Given the description of an element on the screen output the (x, y) to click on. 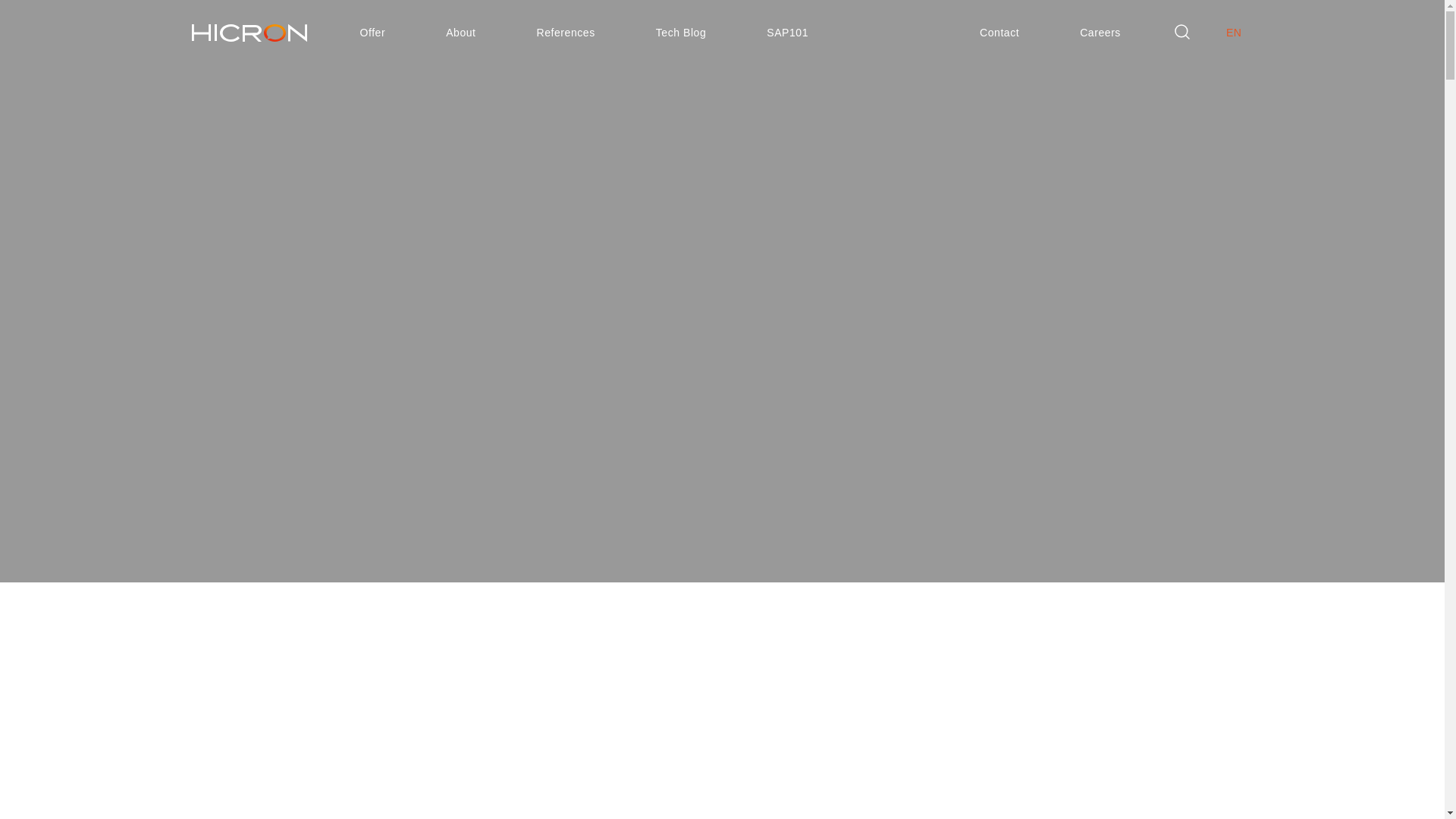
Tech Blog (681, 32)
About (459, 32)
Offer (371, 32)
Careers (1100, 32)
Contact (999, 32)
SAP101 (787, 32)
References (566, 32)
